Given the description of an element on the screen output the (x, y) to click on. 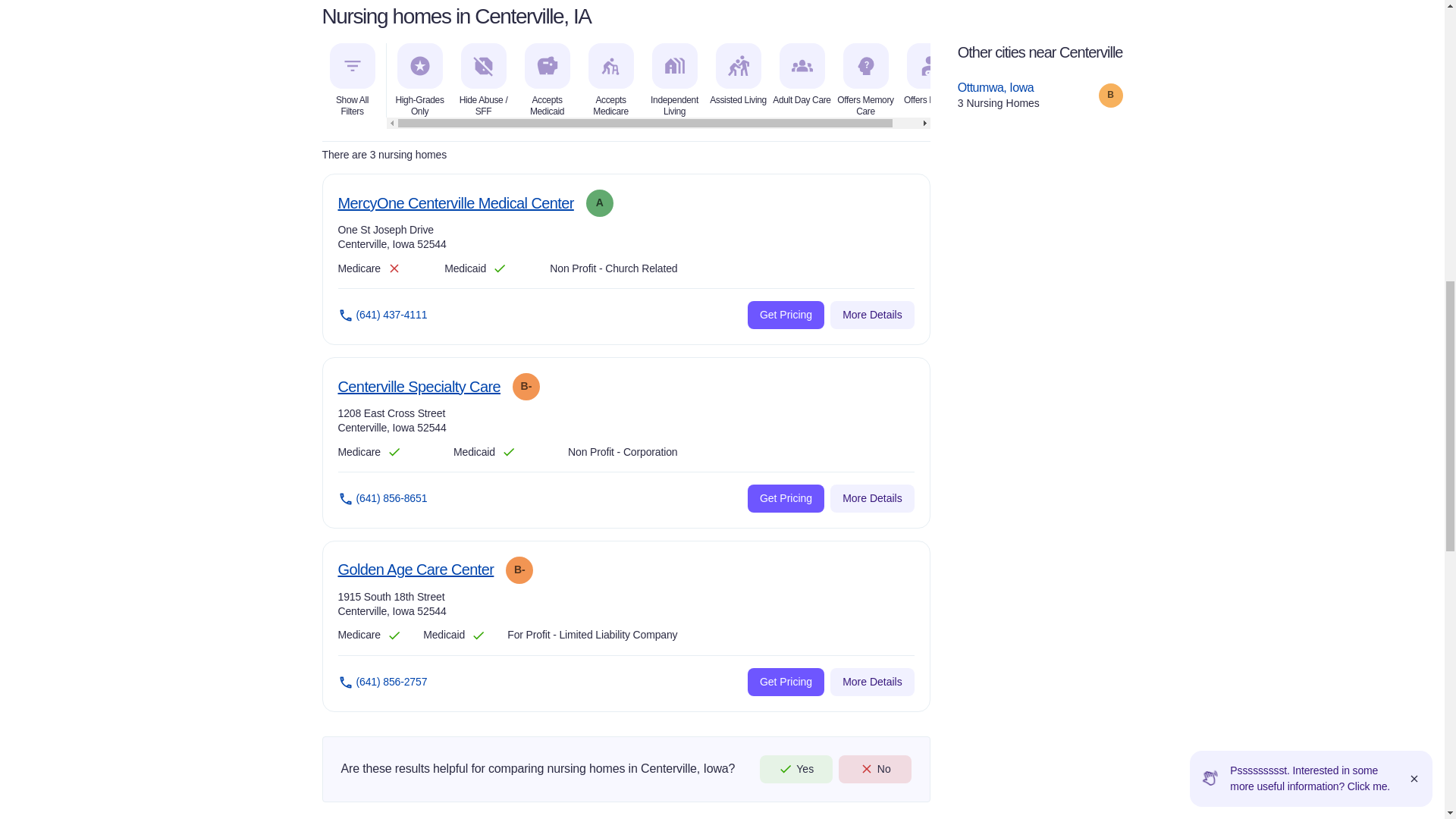
More Details (418, 386)
More Details (871, 682)
Get Pricing (871, 315)
No (786, 498)
Get Pricing (874, 768)
More Details (455, 203)
Yes (786, 682)
